Given the description of an element on the screen output the (x, y) to click on. 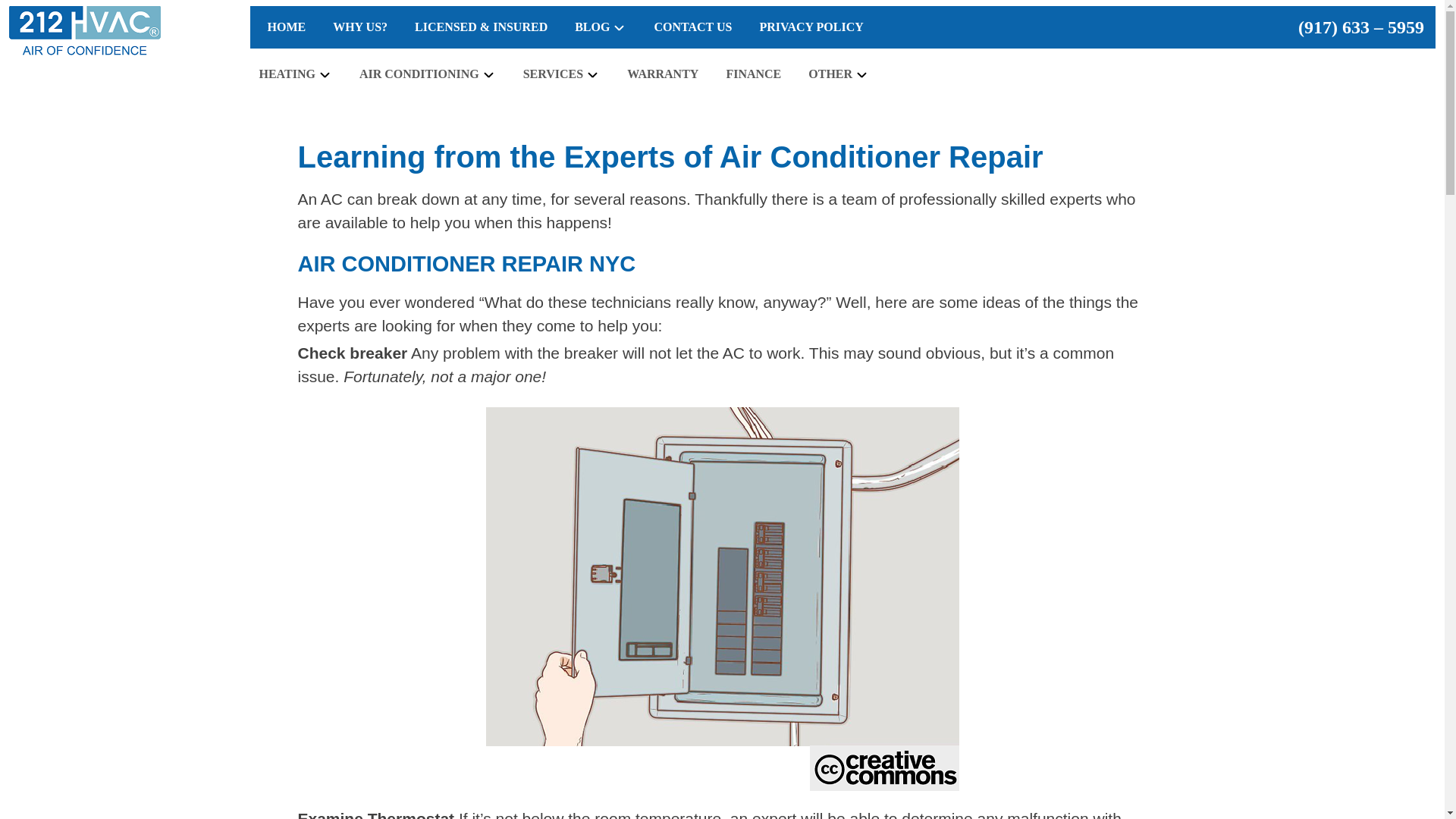
PRIVACY POLICY (810, 27)
BLOG (600, 27)
CONTACT US (692, 27)
HOME (285, 27)
WHY US? (359, 27)
HEATING (295, 73)
AIR CONDITIONING (427, 73)
